Given the description of an element on the screen output the (x, y) to click on. 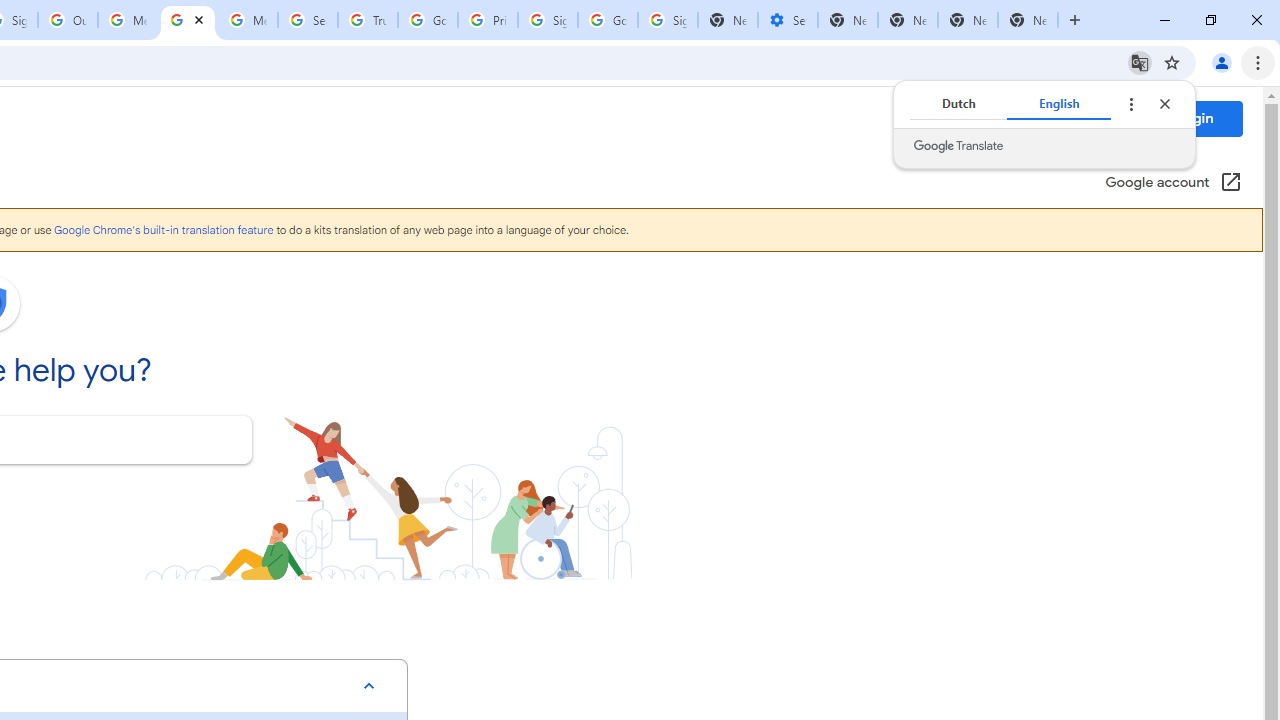
Google Account (Opens in new window) (1173, 183)
Google Chrome's built-in translation feature (163, 229)
New Tab (968, 20)
Google Account Help (187, 20)
Login (1194, 118)
Google Cybersecurity Innovations - Google Safety Center (607, 20)
Google Ads - Sign in (428, 20)
Trusted Information and Content - Google Safety Center (367, 20)
